Given the description of an element on the screen output the (x, y) to click on. 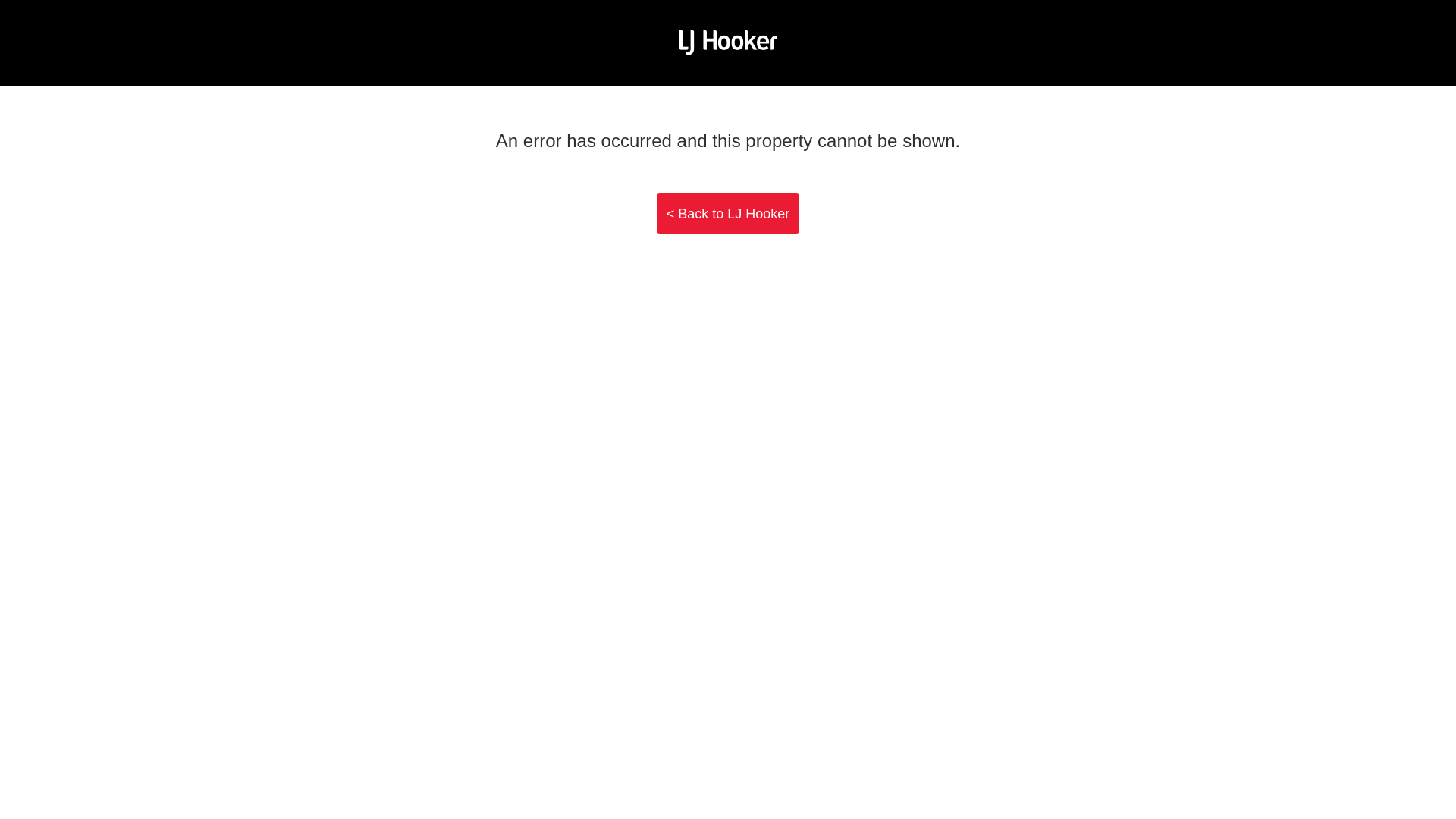
< Back to LJ Hooker Element type: text (728, 213)
